Given the description of an element on the screen output the (x, y) to click on. 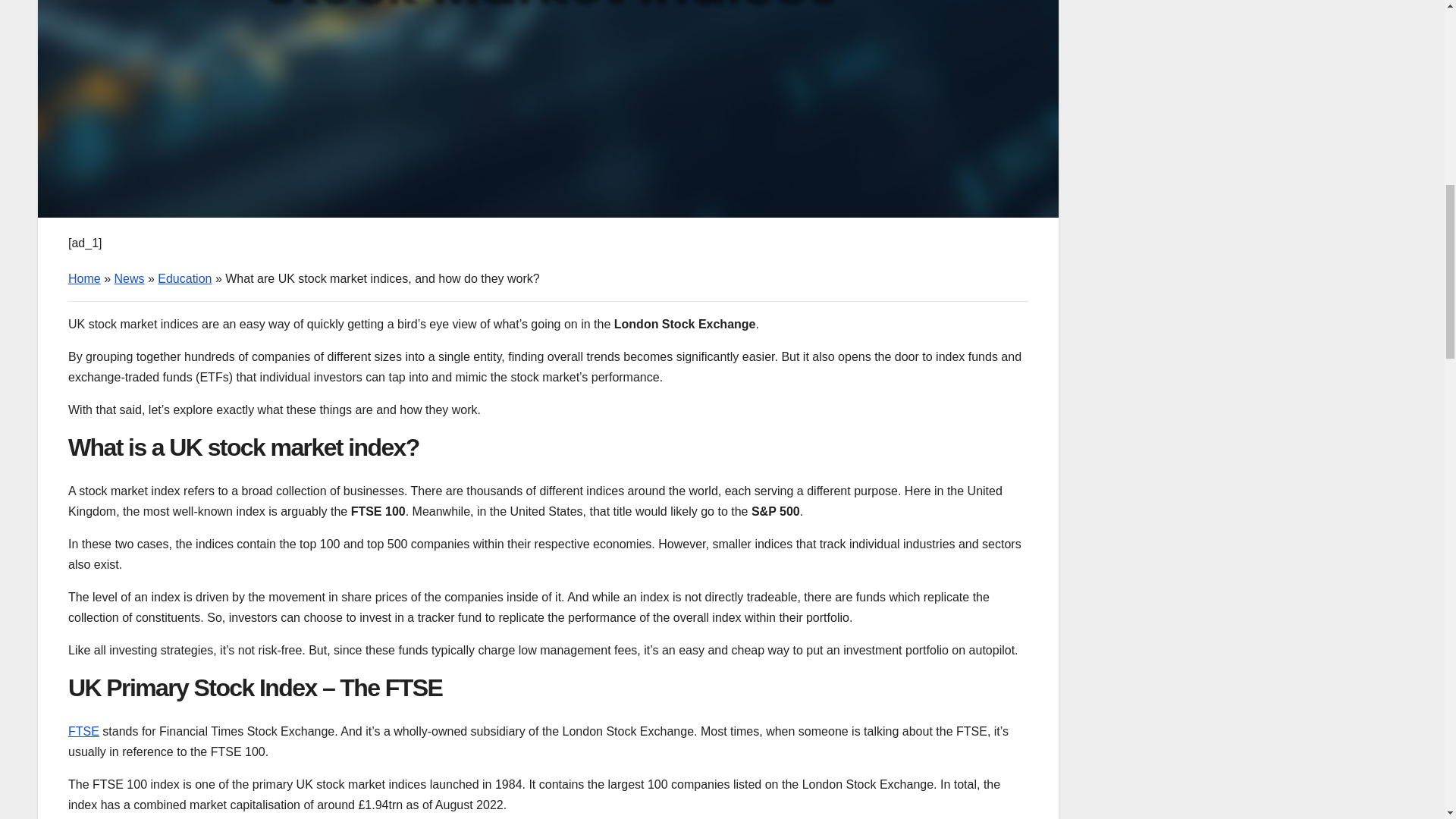
Education (184, 278)
FTSE (83, 730)
Home (84, 278)
News (128, 278)
